Given the description of an element on the screen output the (x, y) to click on. 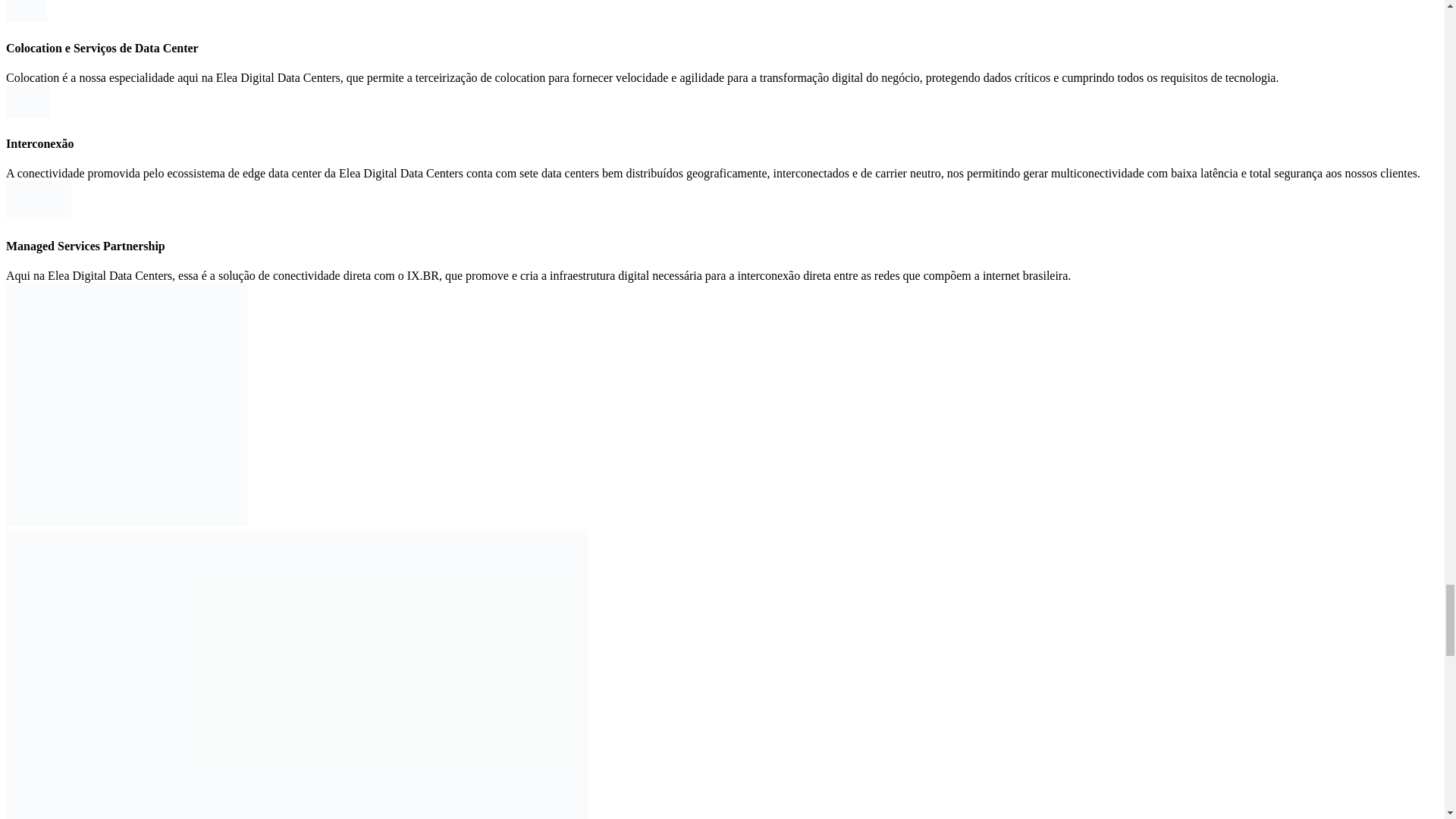
Caminho 23226 (38, 200)
